Given the description of an element on the screen output the (x, y) to click on. 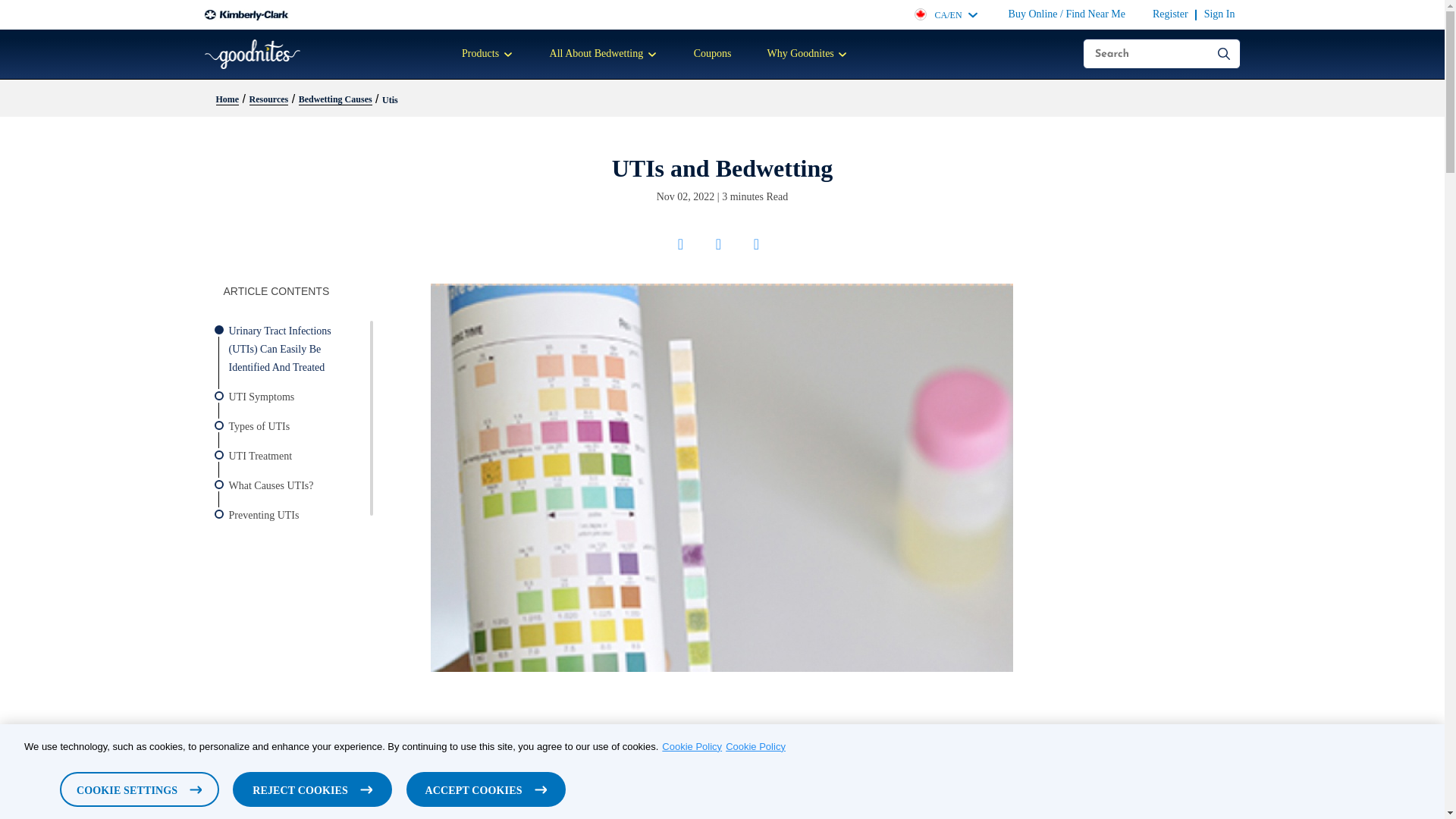
All About Bedwetting (603, 53)
Register (1170, 14)
Sign In (1219, 14)
Products (487, 53)
